Given the description of an element on the screen output the (x, y) to click on. 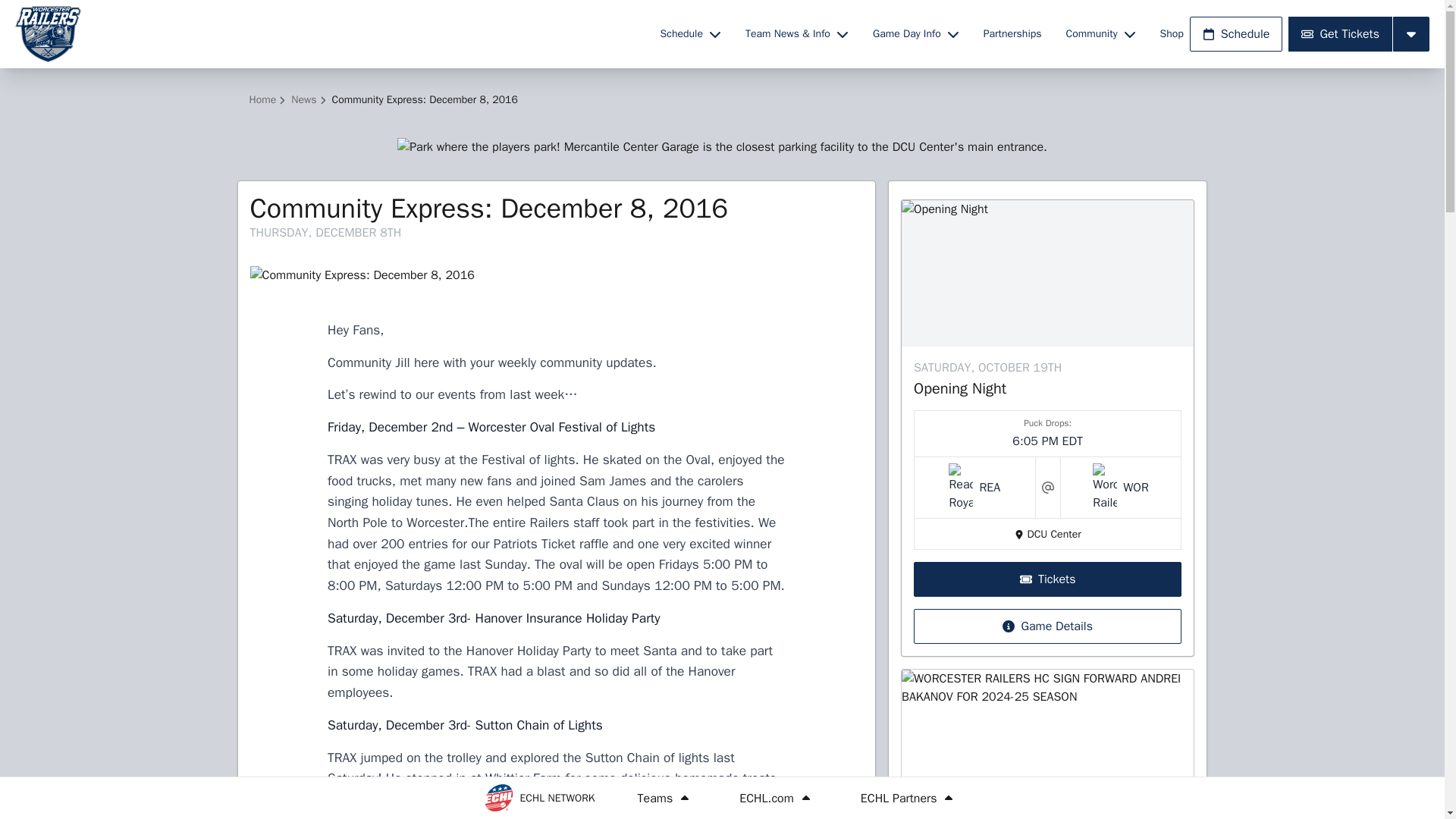
Community (1100, 33)
Shop (1171, 33)
Get Tickets (1339, 33)
Schedule (1236, 33)
Partnerships (1012, 33)
Worcester Railers (328, 33)
Schedule (689, 33)
Game Day Info (915, 33)
